Given the description of an element on the screen output the (x, y) to click on. 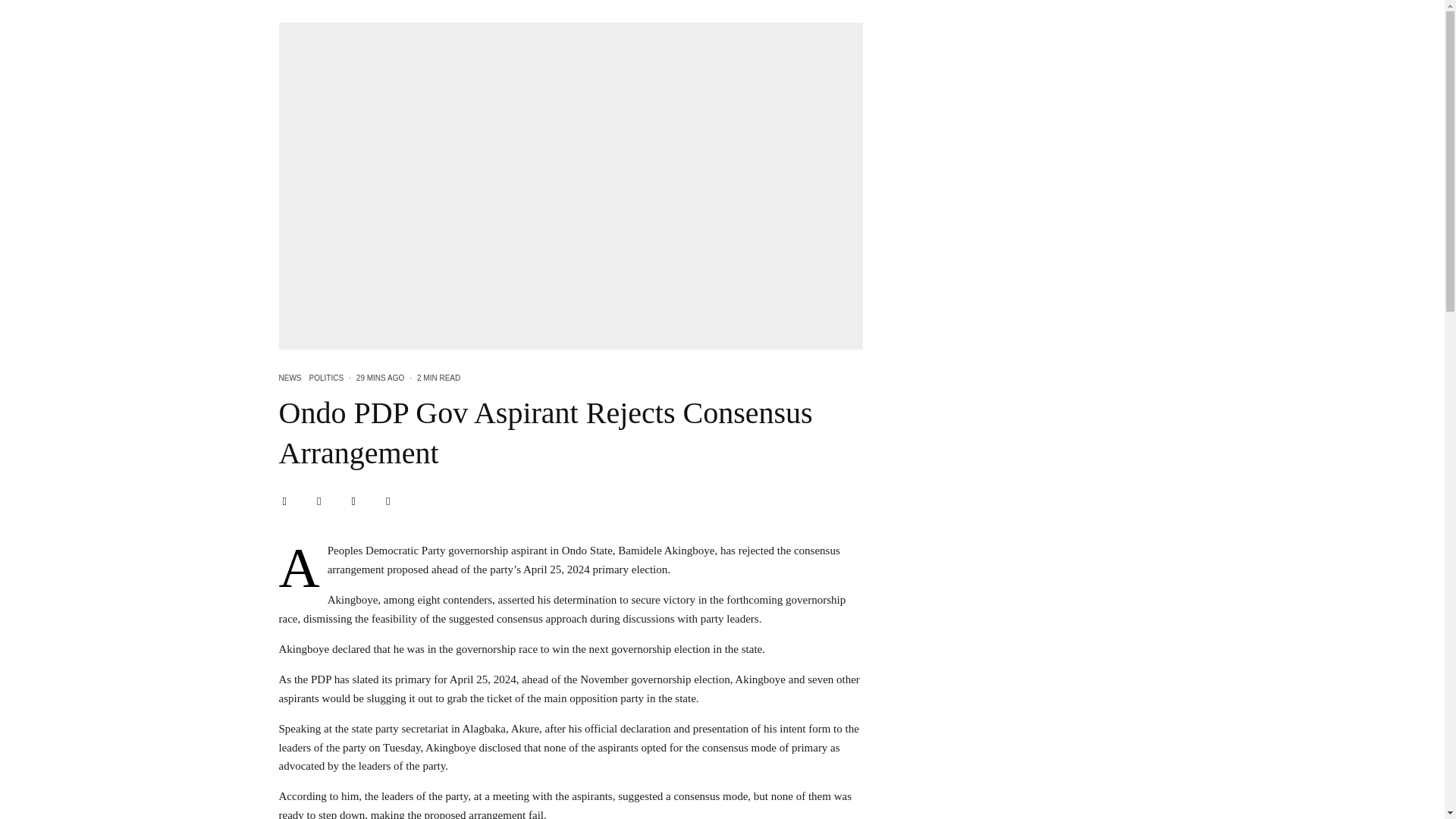
NEWS (290, 378)
POLITICS (325, 378)
